Given the description of an element on the screen output the (x, y) to click on. 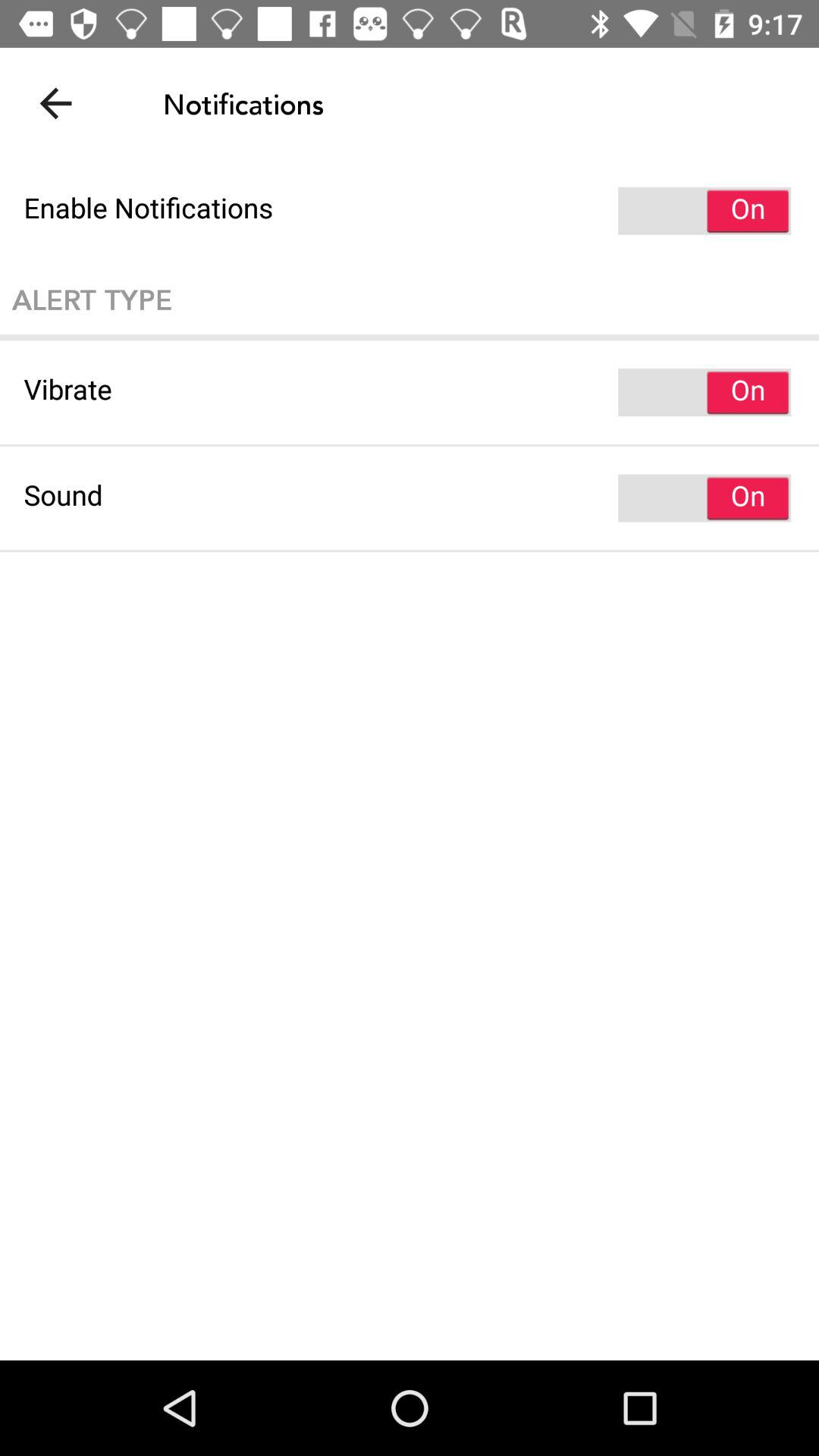
select the icon above enable notifications (55, 103)
